Given the description of an element on the screen output the (x, y) to click on. 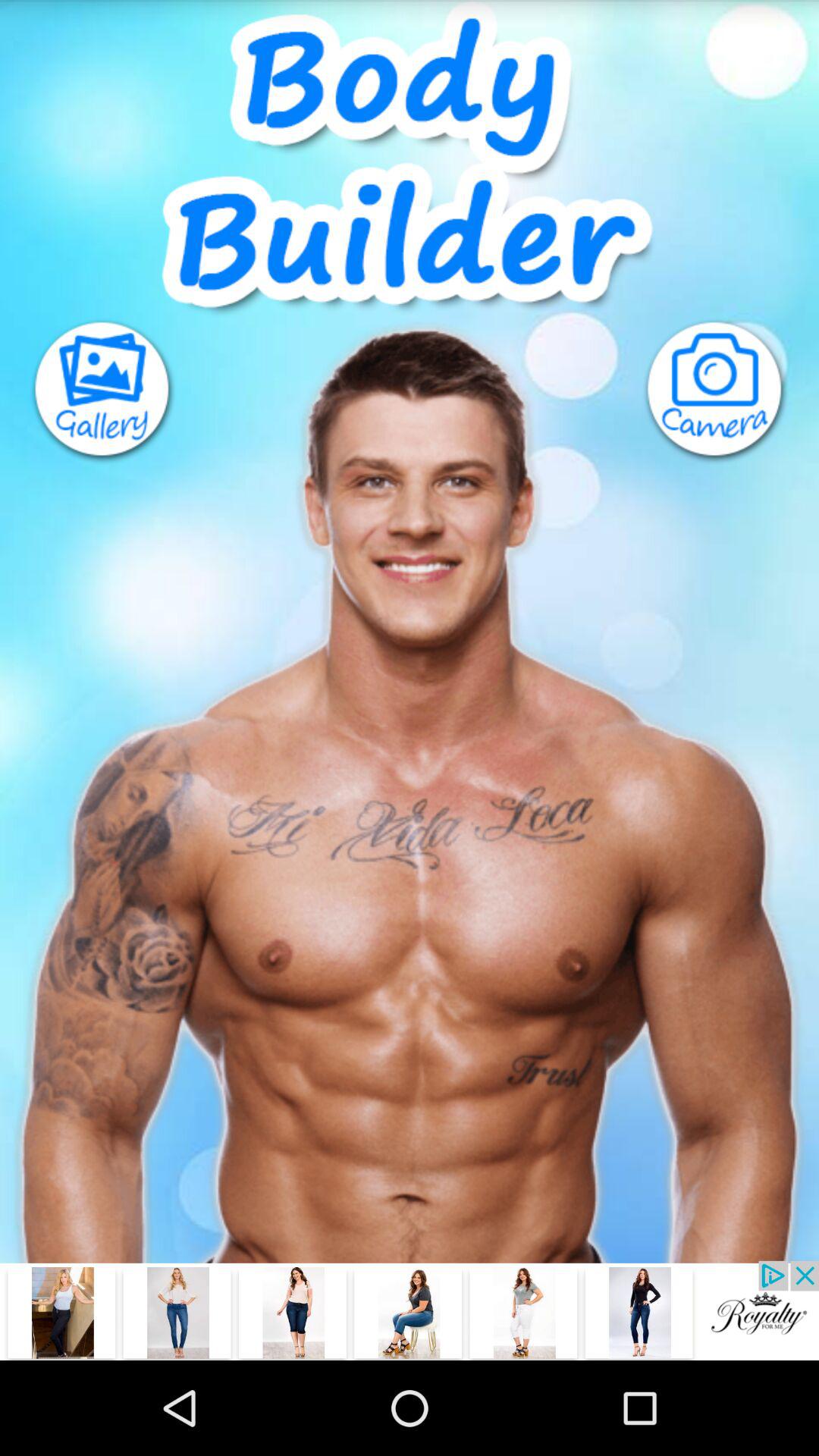
photo gallery (88, 391)
